Given the description of an element on the screen output the (x, y) to click on. 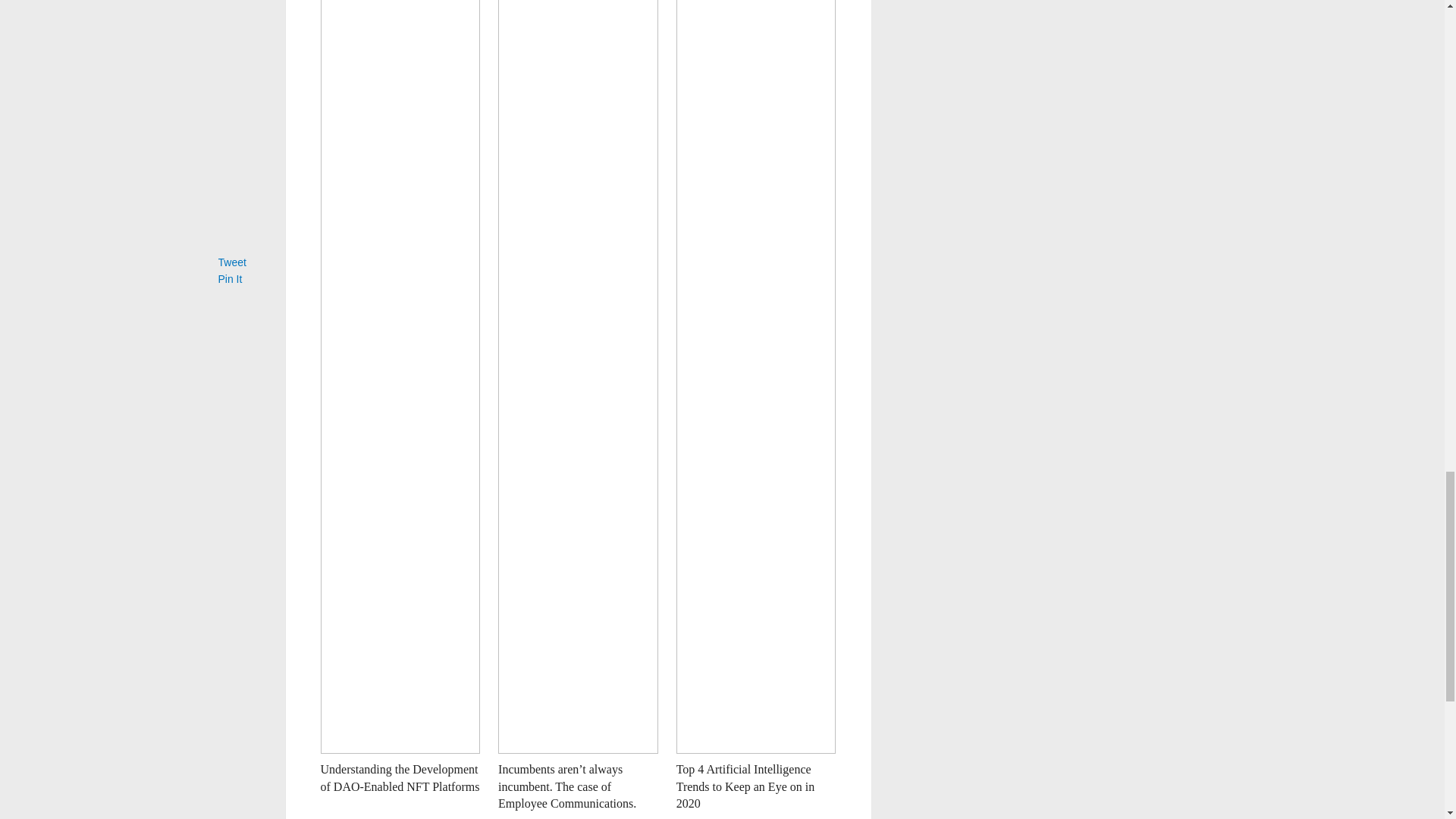
Understanding the Development of DAO-Enabled NFT Platforms (399, 777)
Understanding the Development of DAO-Enabled NFT Platforms (399, 777)
